Given the description of an element on the screen output the (x, y) to click on. 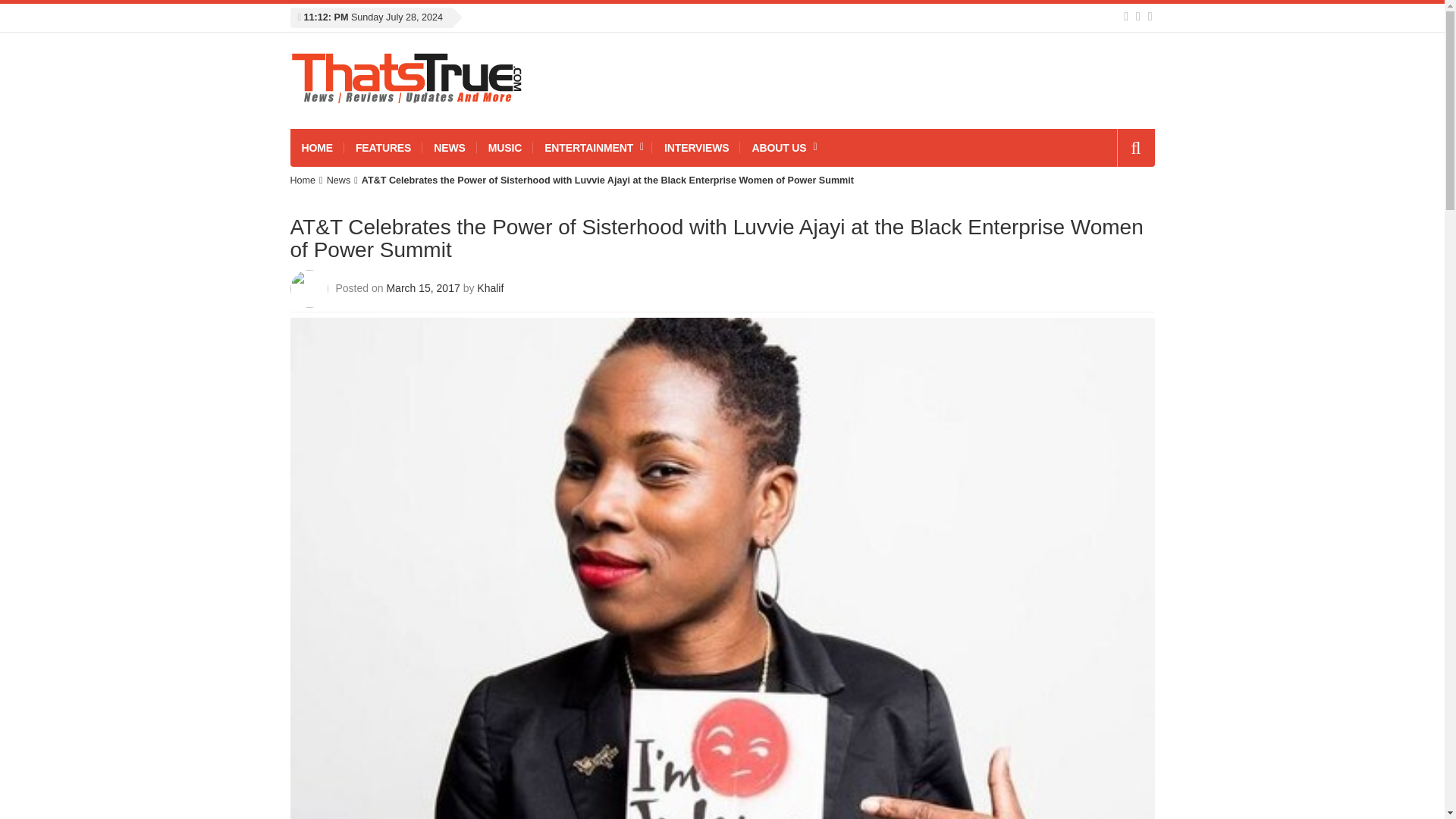
ABOUT US (784, 147)
MUSIC (504, 147)
Khalif (490, 287)
March 15, 2017 (424, 287)
News (338, 180)
ENTERTAINMENT (592, 147)
Home (302, 180)
Home (302, 180)
HOME (316, 147)
INTERVIEWS (695, 147)
FEATURES (382, 147)
NEWS (449, 147)
